Given the description of an element on the screen output the (x, y) to click on. 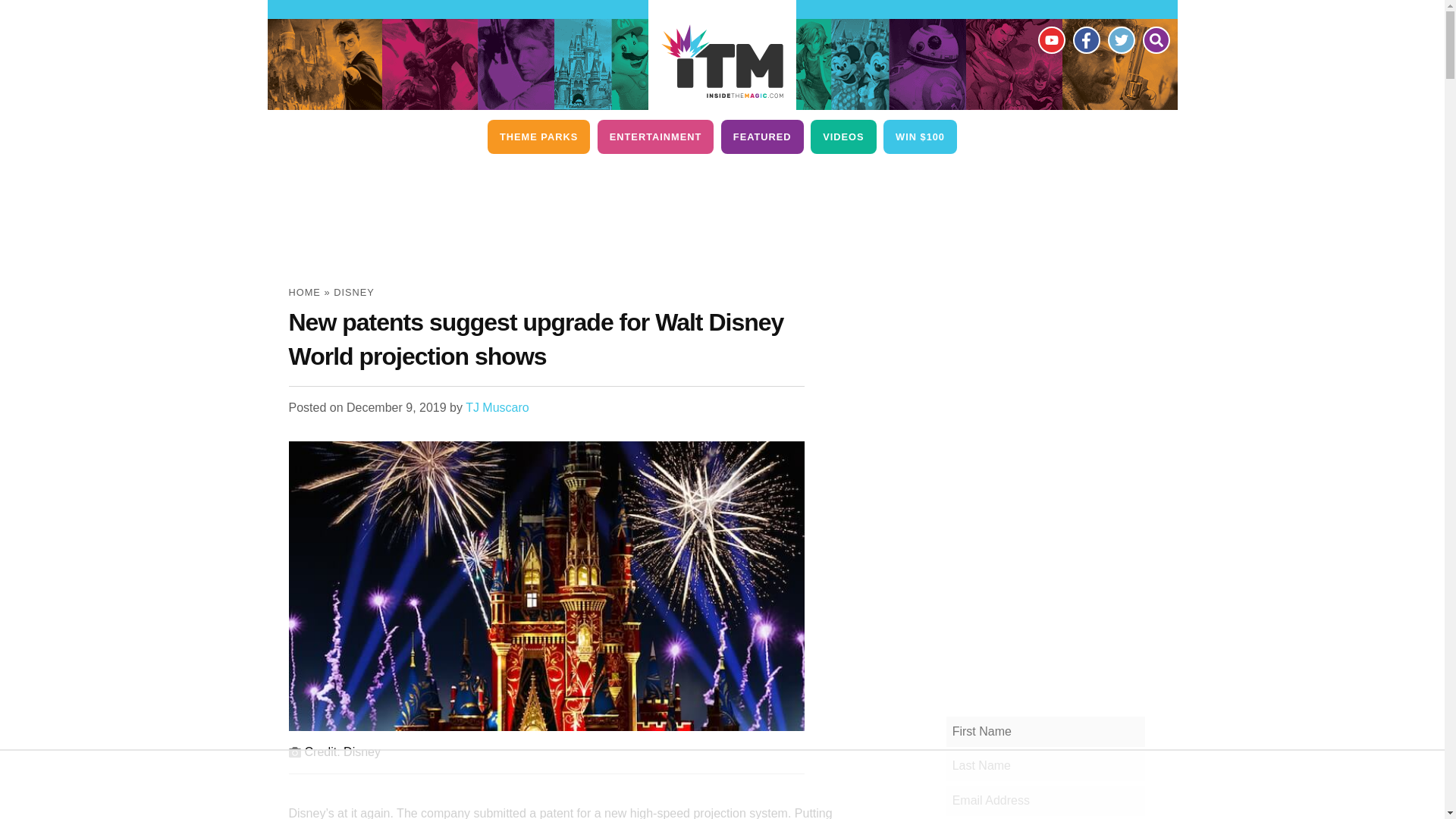
ENTERTAINMENT (655, 136)
YouTube (1050, 40)
Facebook (1085, 40)
FEATURED (761, 136)
Search (1155, 40)
THEME PARKS (538, 136)
Twitter (1120, 40)
